Given the description of an element on the screen output the (x, y) to click on. 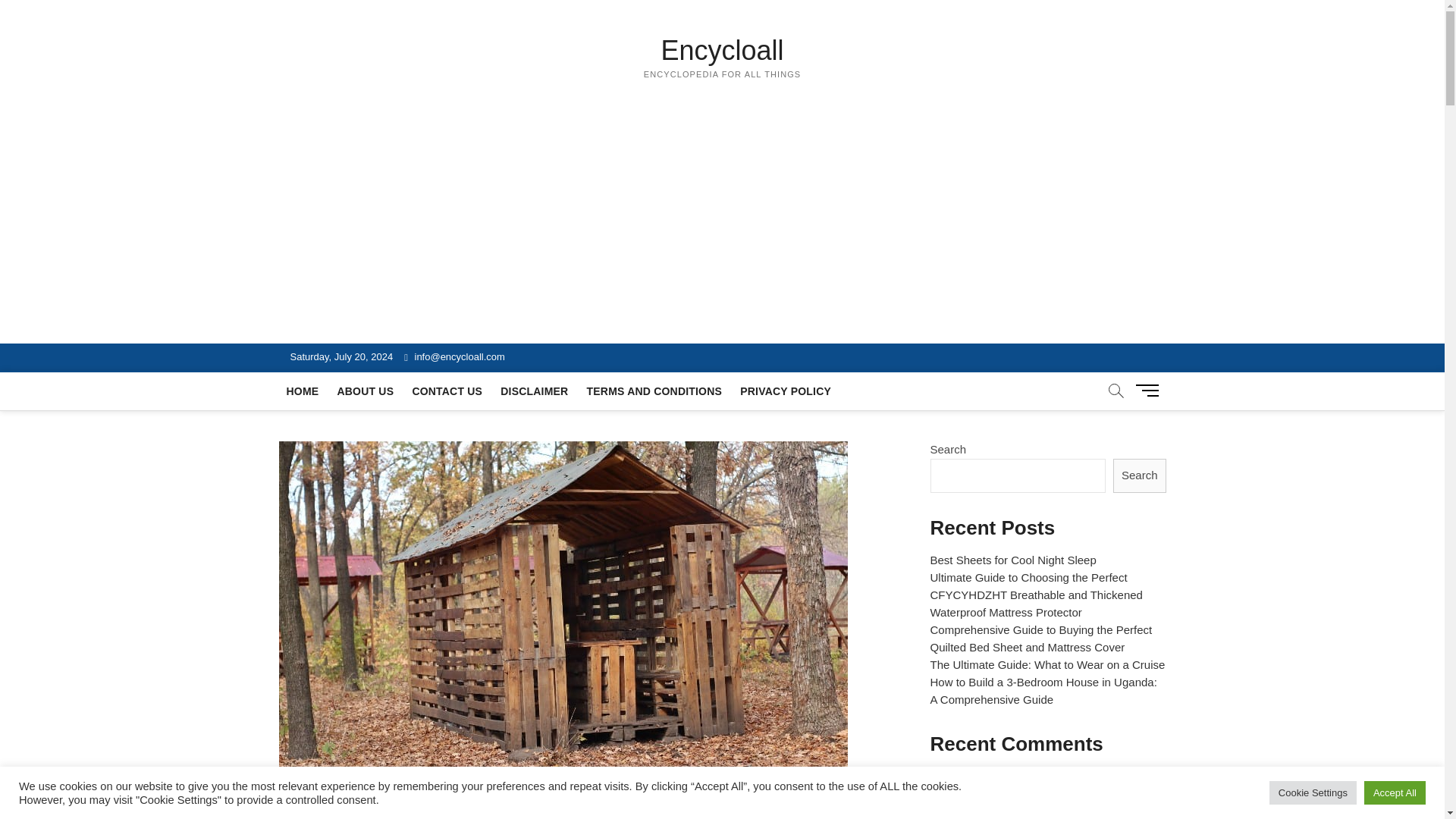
PRIVACY POLICY (785, 391)
ABOUT US (365, 391)
Best Sheets for Cool Night Sleep (1013, 559)
Mail Us (454, 356)
Search (1139, 475)
CONTACT US (446, 391)
HOME (302, 391)
DISCLAIMER (534, 391)
John Smith (958, 778)
TERMS AND CONDITIONS (654, 391)
The Ultimate Guide: What to Wear on a Cruise (1047, 664)
Encycloall (722, 50)
